Given the description of an element on the screen output the (x, y) to click on. 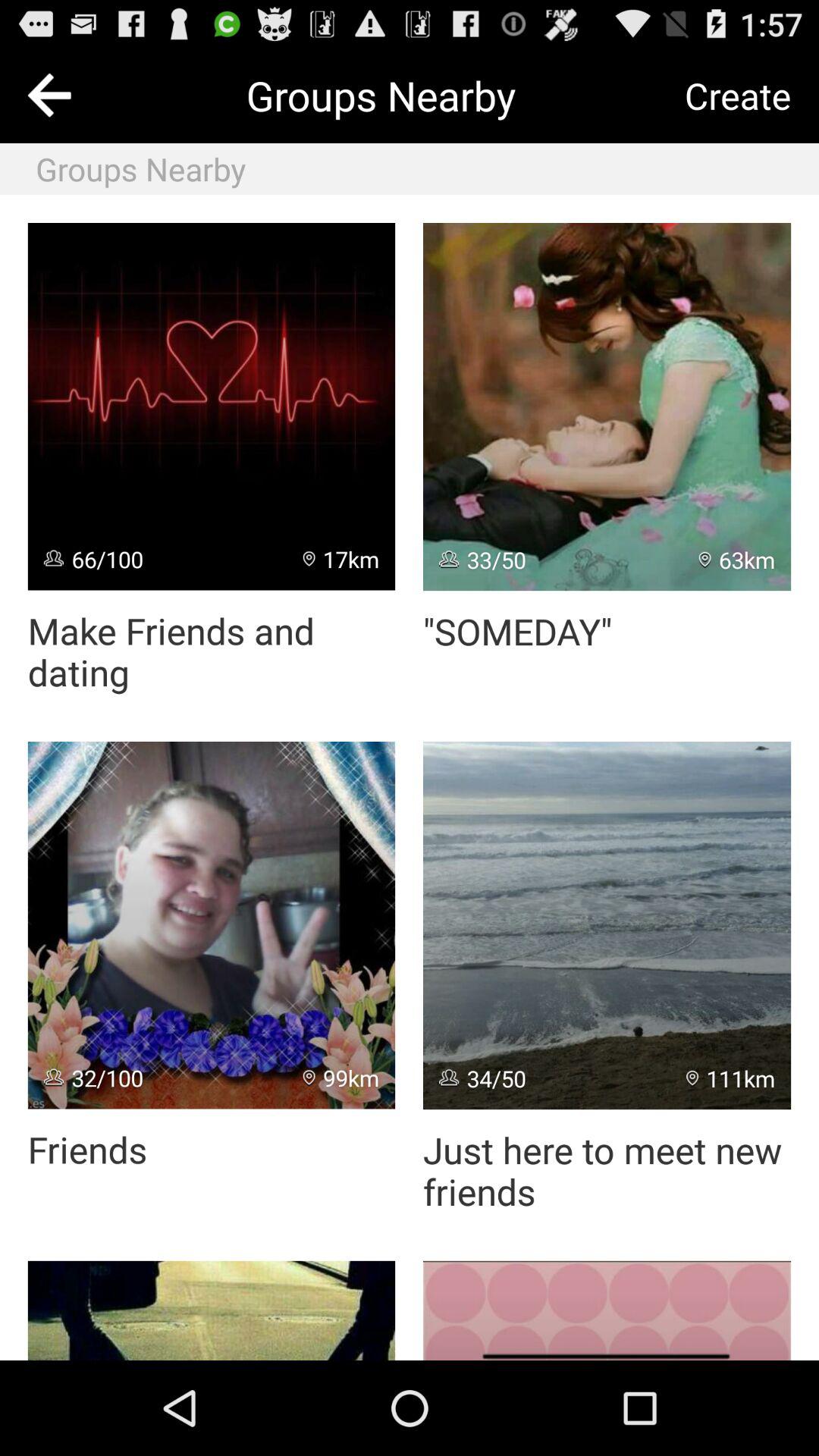
scroll to 63km (736, 559)
